Given the description of an element on the screen output the (x, y) to click on. 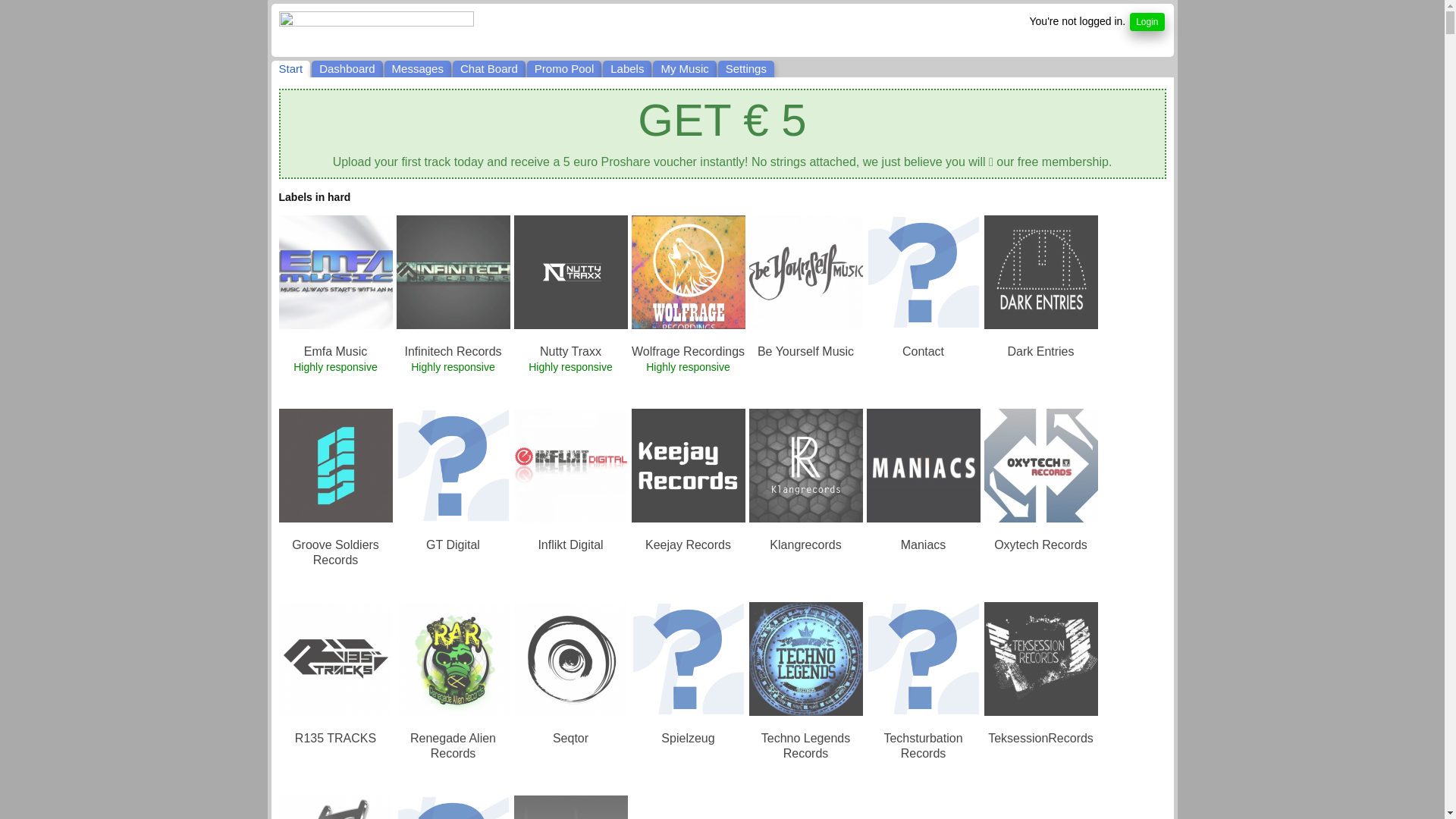
Spielzeug Element type: text (687, 738)
Techno Legends Records Element type: text (805, 745)
Seqtor Element type: text (570, 738)
Klangrecords Element type: text (804, 545)
Infinitech Records Element type: text (452, 351)
Settings Element type: text (746, 68)
Labels Element type: text (626, 68)
TeksessionRecords Element type: text (1040, 738)
Dashboard Element type: text (346, 68)
Oxytech Records Element type: text (1040, 545)
Promo Pool Element type: text (564, 68)
Emfa Music Element type: text (335, 351)
Contact Element type: text (923, 351)
Messages Element type: text (417, 68)
GT Digital Element type: text (453, 545)
Wolfrage Recordings Element type: text (687, 351)
Inflikt Digital Element type: text (569, 545)
Keejay Records Element type: text (688, 545)
My Music Element type: text (683, 68)
Chat Board Element type: text (488, 68)
Groove Soldiers Records Element type: text (335, 552)
R135 TRACKS Element type: text (335, 738)
Start Element type: text (290, 68)
Maniacs Element type: text (923, 545)
Be Yourself Music Element type: text (805, 351)
Login Element type: text (1146, 21)
Renegade Alien Records Element type: text (452, 745)
Dark Entries Element type: text (1040, 351)
Techsturbation Records Element type: text (922, 745)
Nutty Traxx Element type: text (570, 351)
